Given the description of an element on the screen output the (x, y) to click on. 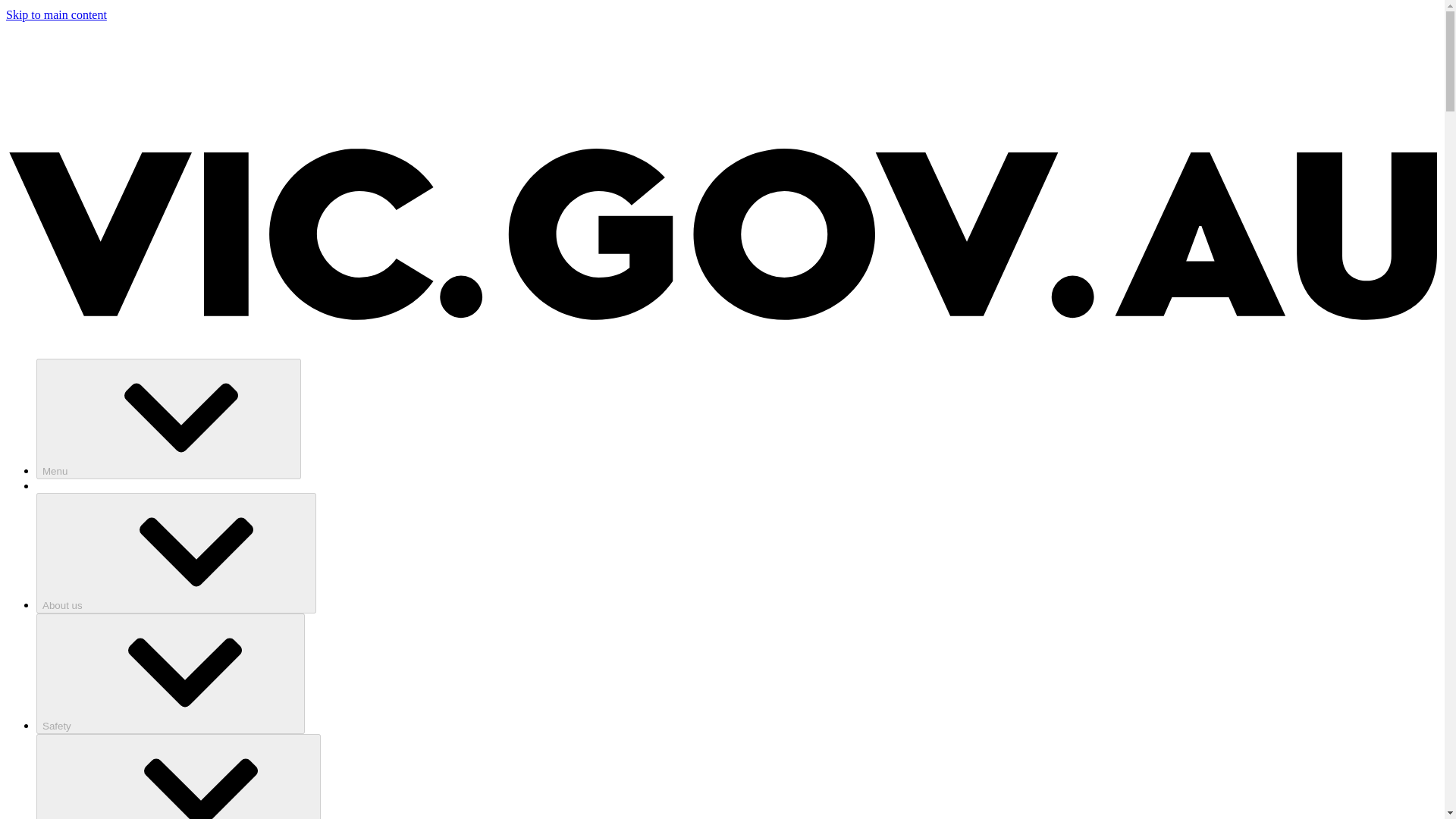
Skip to main content (55, 14)
